Given the description of an element on the screen output the (x, y) to click on. 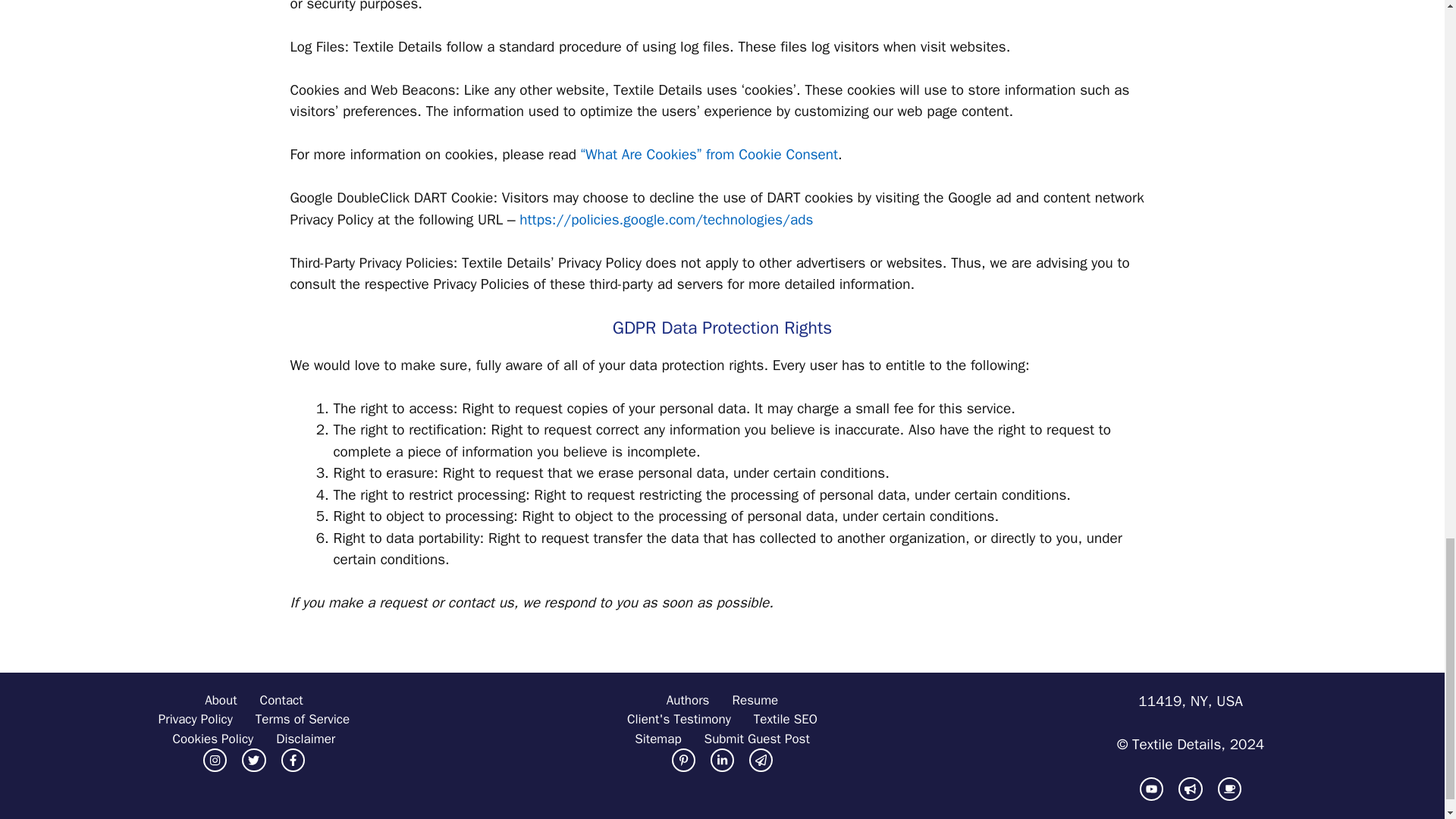
Privacy Policy (195, 719)
Contact (281, 700)
Client's Testimony (678, 719)
About (220, 700)
Cookies Policy (213, 739)
Authors (688, 700)
Disclaimer (305, 739)
Textile SEO (302, 719)
